Given the description of an element on the screen output the (x, y) to click on. 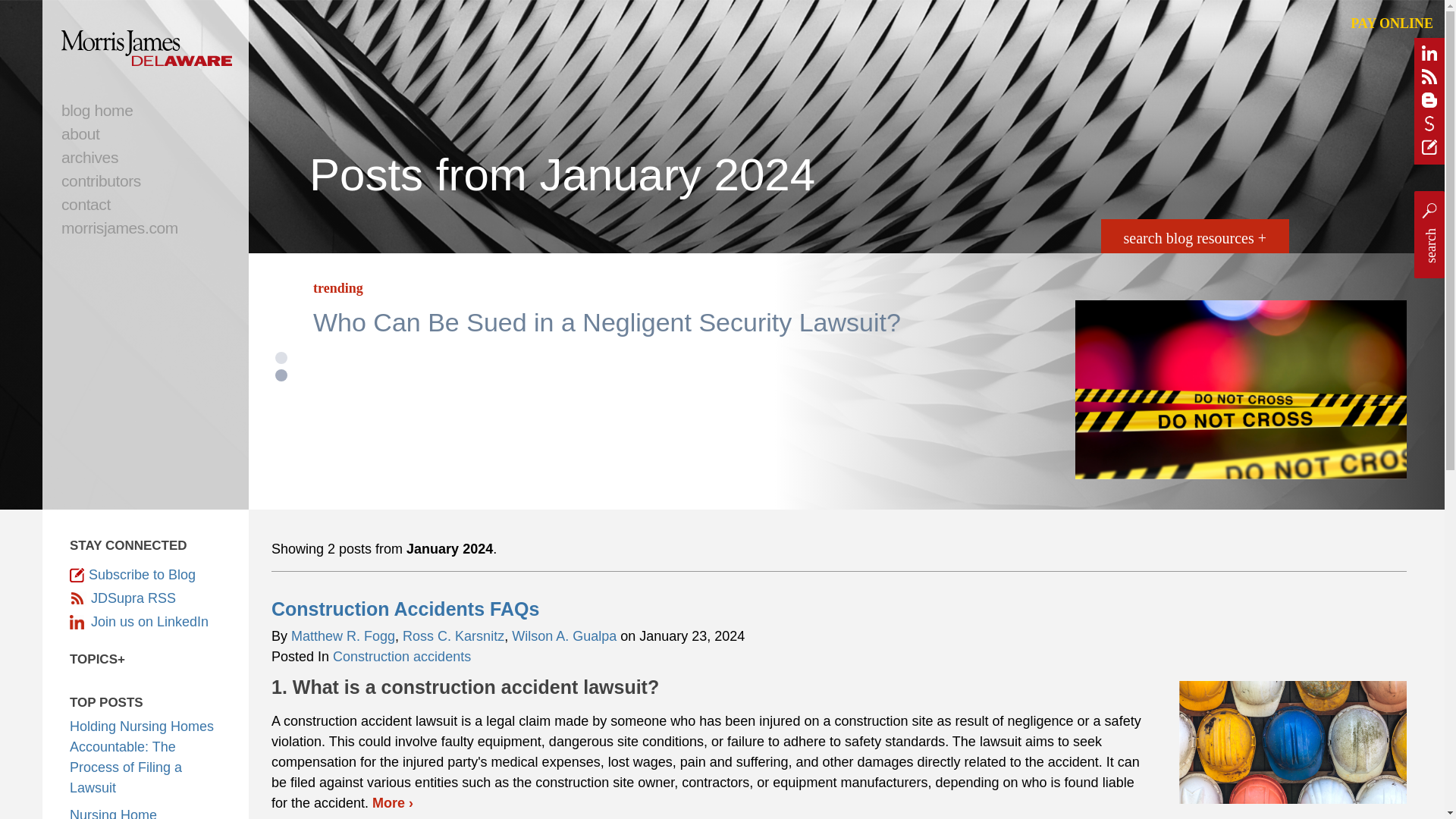
PAY ONLINE (1391, 23)
RSS (1429, 79)
Who Can Be Sued in a Negligent Security Lawsuit? (607, 321)
Subscribe to Blog (145, 575)
Blog (1429, 102)
LinkedIn (145, 621)
View Morris James LLPs portfolio on JD Supra (1429, 126)
Sign Up (1429, 150)
LinkedIn (1429, 55)
